Given the description of an element on the screen output the (x, y) to click on. 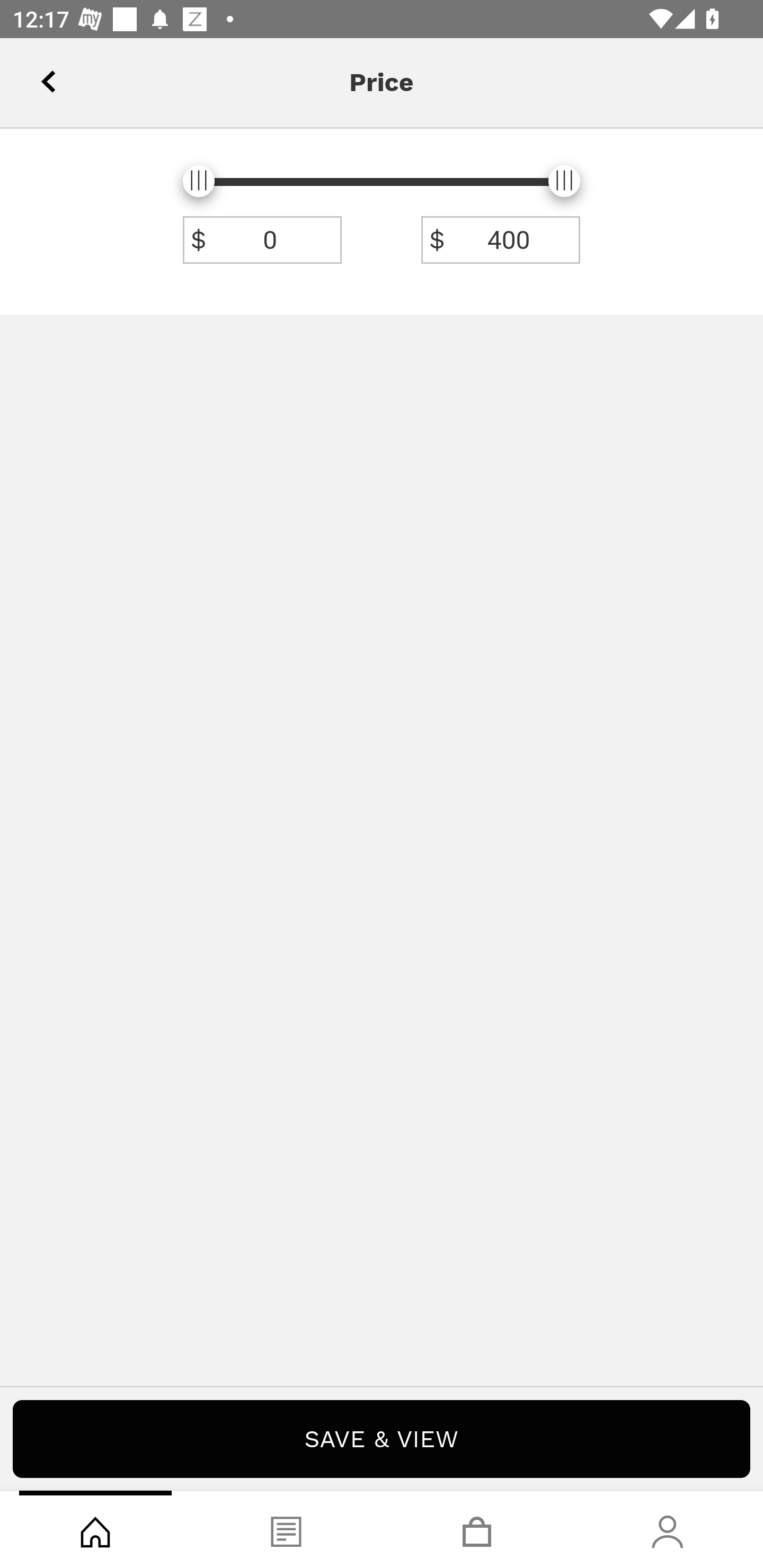
Open Menu (38, 75)
Lookfantastic USA (381, 75)
FREE US Shipping Over $40 (381, 157)
Shop, tab, 1 of 4 (95, 1529)
Blog, tab, 2 of 4 (285, 1529)
Basket, tab, 3 of 4 (476, 1529)
Account, tab, 4 of 4 (667, 1529)
